Given the description of an element on the screen output the (x, y) to click on. 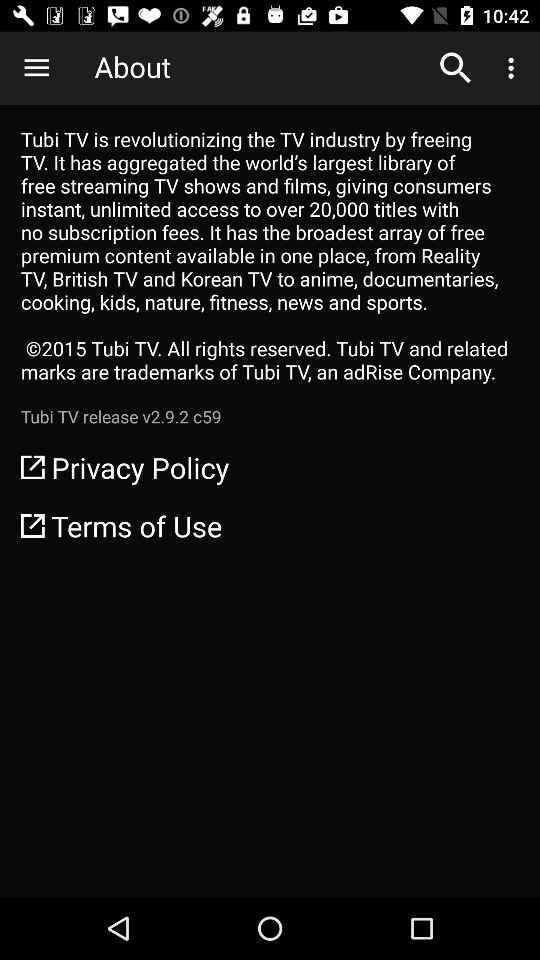
click icon below the tubi tv release item (270, 467)
